Given the description of an element on the screen output the (x, y) to click on. 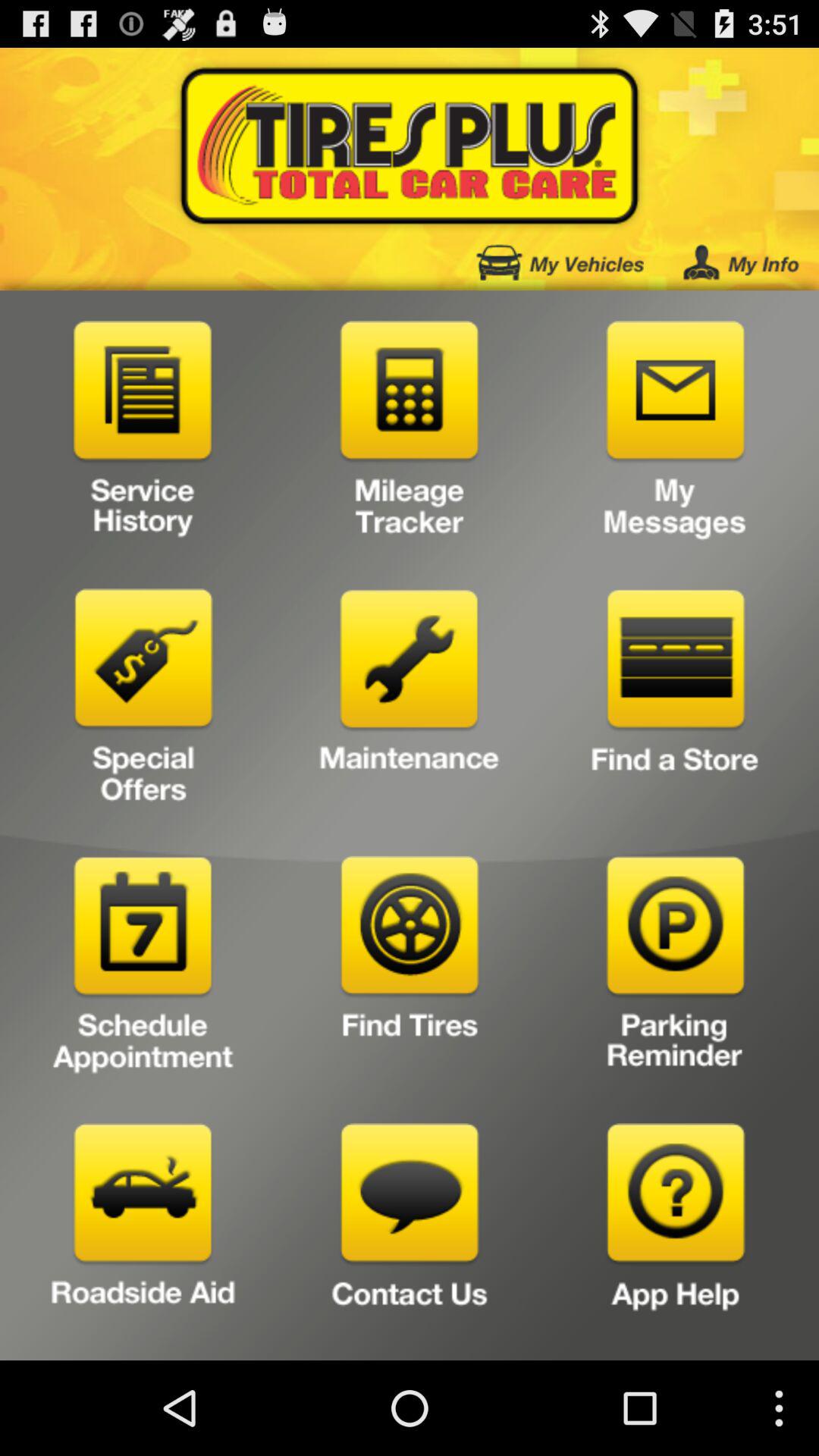
find a tires plus store (675, 701)
